Given the description of an element on the screen output the (x, y) to click on. 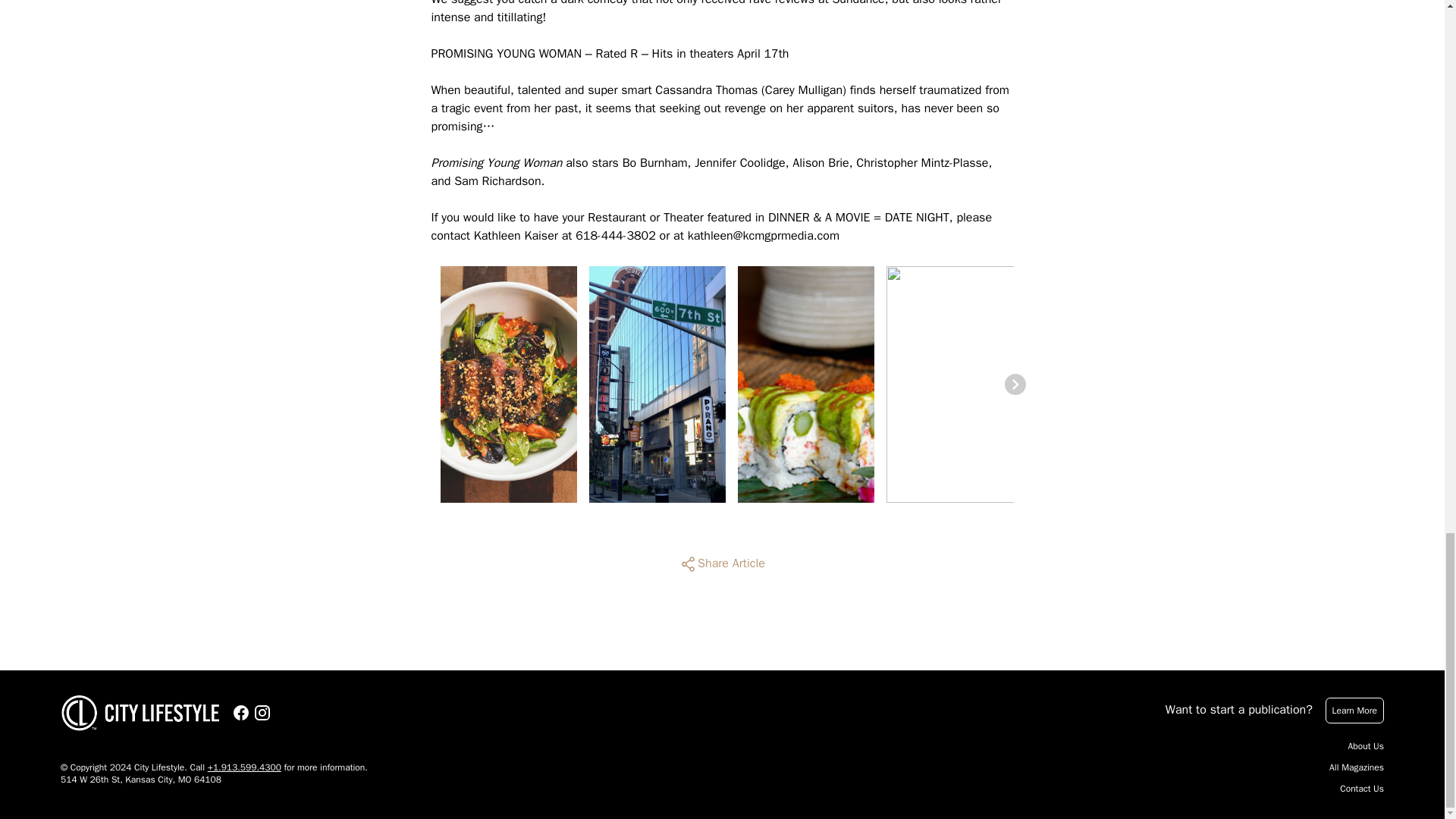
Share Article (722, 563)
Contact Us (1361, 788)
About Us (1366, 746)
Learn More (1354, 710)
All Magazines (1356, 767)
